Given the description of an element on the screen output the (x, y) to click on. 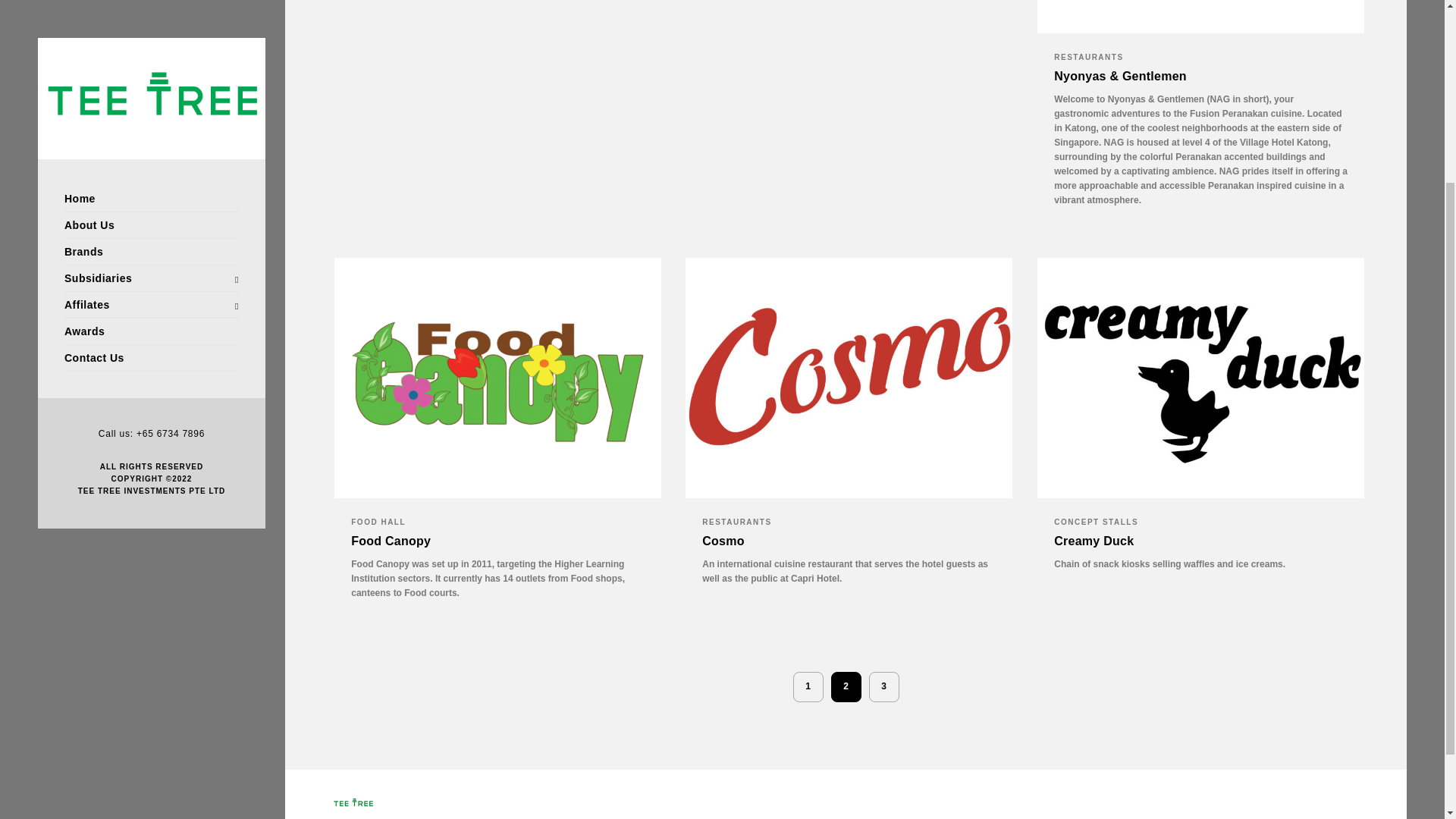
Subsidiaries (151, 33)
Affilates (151, 59)
Brands (151, 10)
Awards (151, 86)
Contact Us (151, 112)
